Given the description of an element on the screen output the (x, y) to click on. 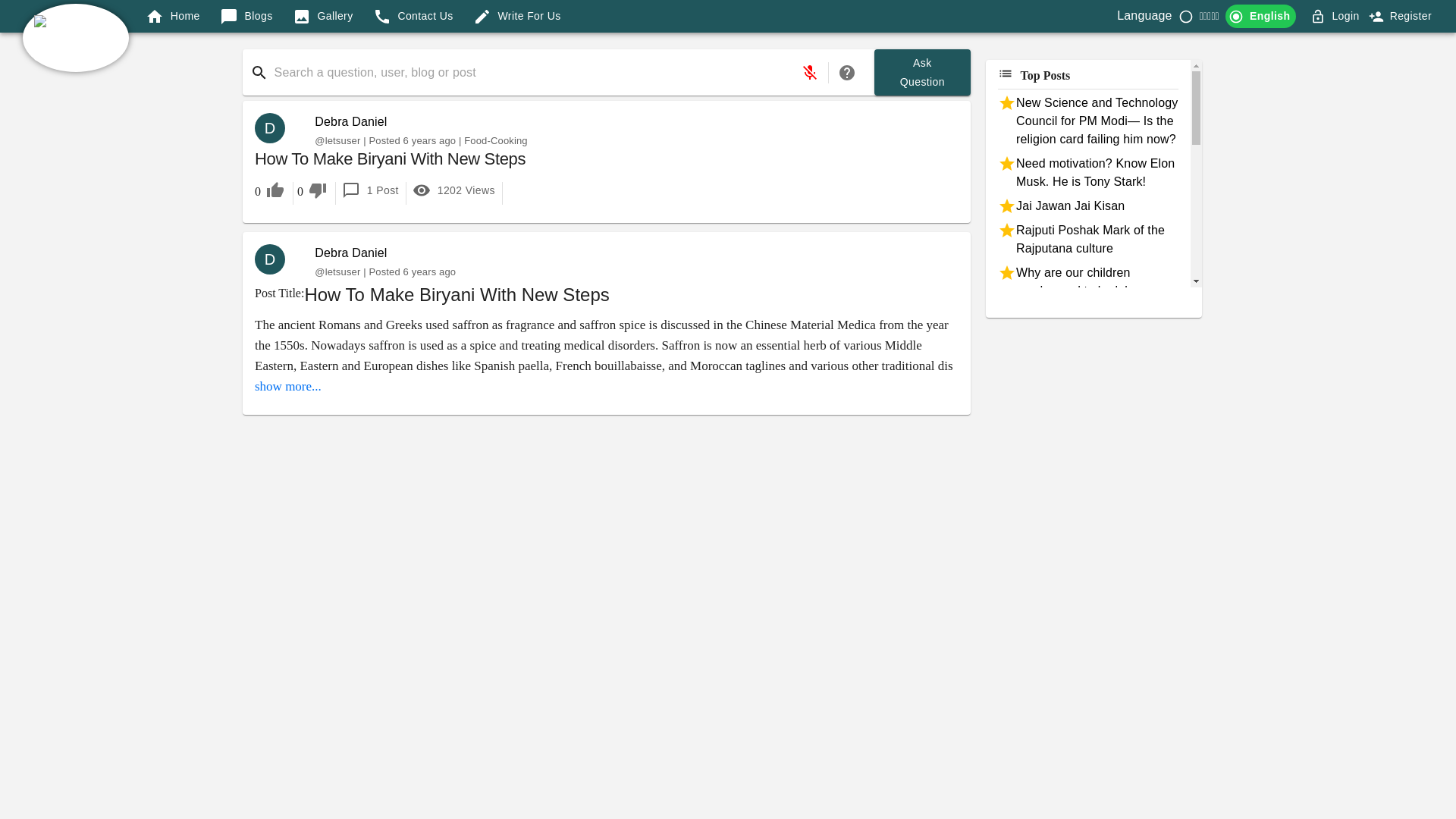
Debra Daniel (350, 252)
 1202 Views (453, 190)
Register (1401, 16)
Login (1345, 15)
Why are our children condemned to be labourers too? (1087, 290)
Rajputi Poshak Mark of the Rajputana culture (1087, 239)
 Write For Us (517, 16)
Lok Raj Sangathan (1087, 375)
 Blogs (246, 16)
D (275, 259)
